Given the description of an element on the screen output the (x, y) to click on. 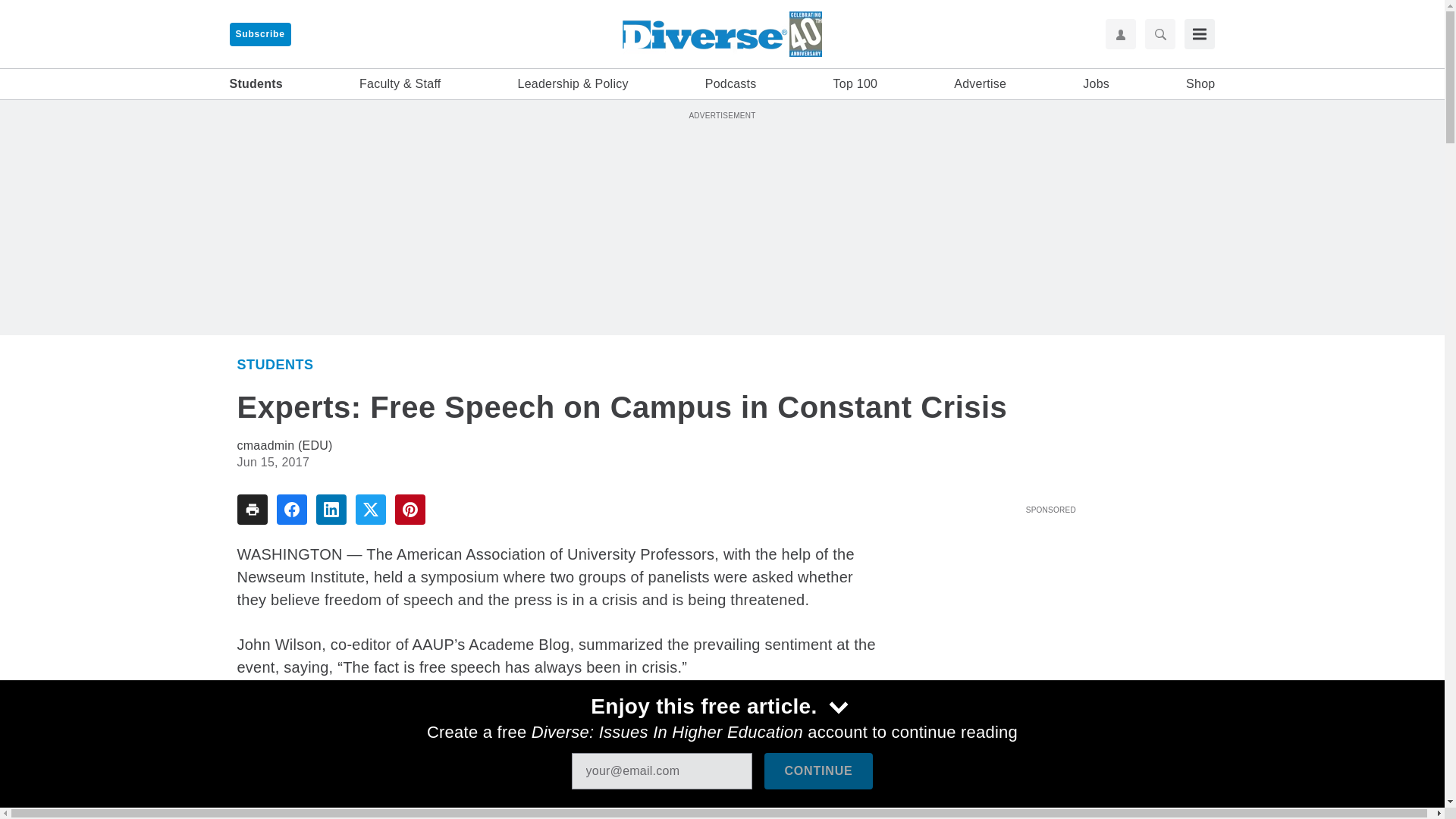
Advertise (979, 84)
Subscribe (258, 33)
Share To pinterest (409, 509)
Podcasts (730, 84)
Share To twitter (370, 509)
Jobs (1096, 84)
Share To facebook (290, 509)
Subscribe (258, 33)
Share To print (250, 509)
Share To linkedin (330, 509)
